Given the description of an element on the screen output the (x, y) to click on. 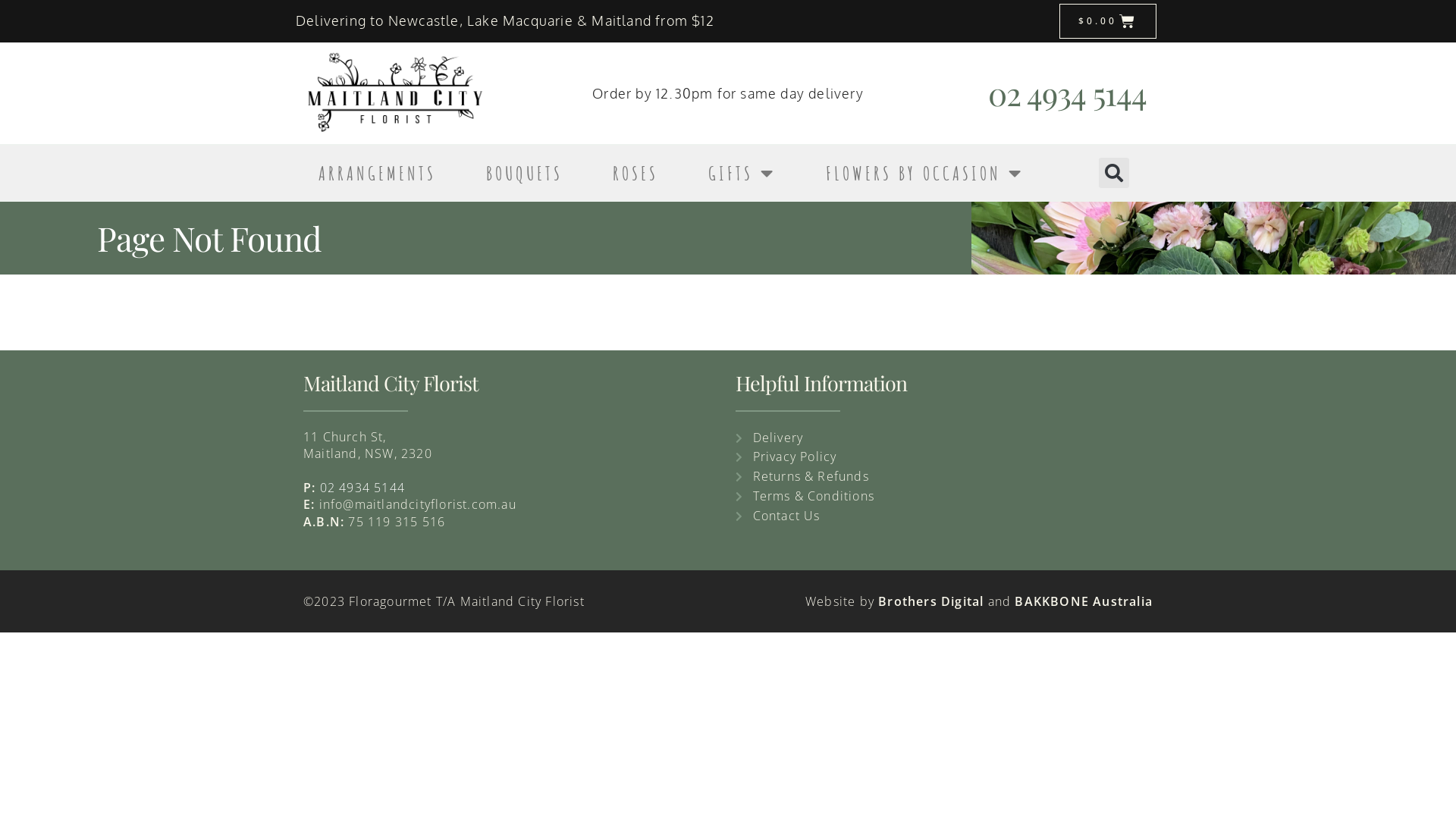
Contact Us Element type: text (943, 516)
Terms & Conditions Element type: text (943, 496)
BAKKBONE Australia Element type: text (1081, 601)
Delivery Element type: text (943, 438)
Privacy Policy Element type: text (943, 457)
Returns & Refunds Element type: text (943, 476)
BOUQUETS Element type: text (523, 172)
Brothers Digital Element type: text (932, 601)
GIFTS Element type: text (741, 172)
$0.00 Element type: text (1108, 20)
02 4934 5144 Element type: text (1067, 93)
ROSES Element type: text (635, 172)
FLOWERS BY OCCASION Element type: text (924, 172)
0 Element type: text (323, 487)
ARRANGEMENTS Element type: text (377, 172)
